Given the description of an element on the screen output the (x, y) to click on. 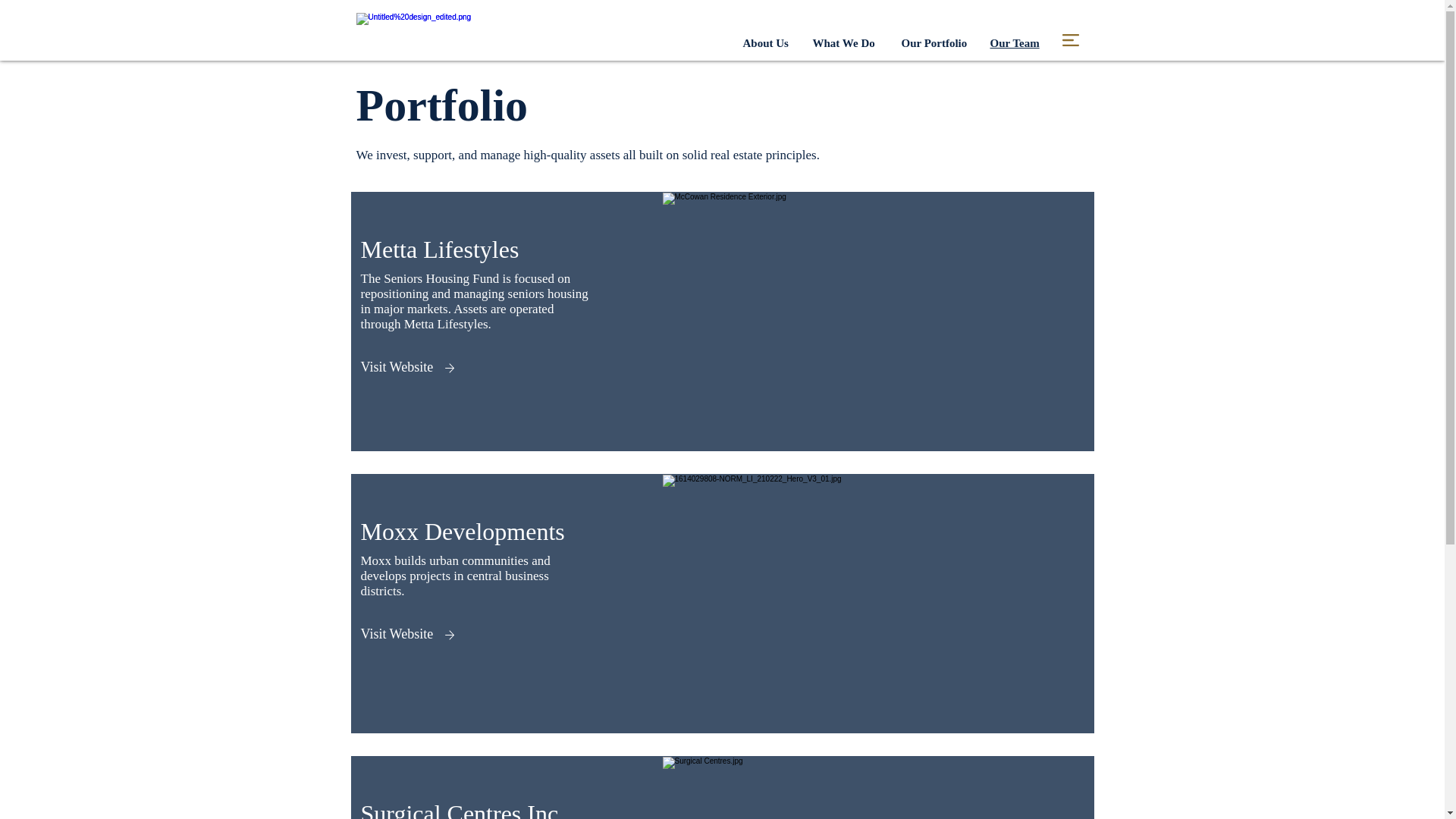
Visit Website (397, 633)
Visit Website (397, 366)
Our Team (1014, 42)
About Us (765, 42)
What We Do (843, 42)
Our Portfolio (933, 42)
